Given the description of an element on the screen output the (x, y) to click on. 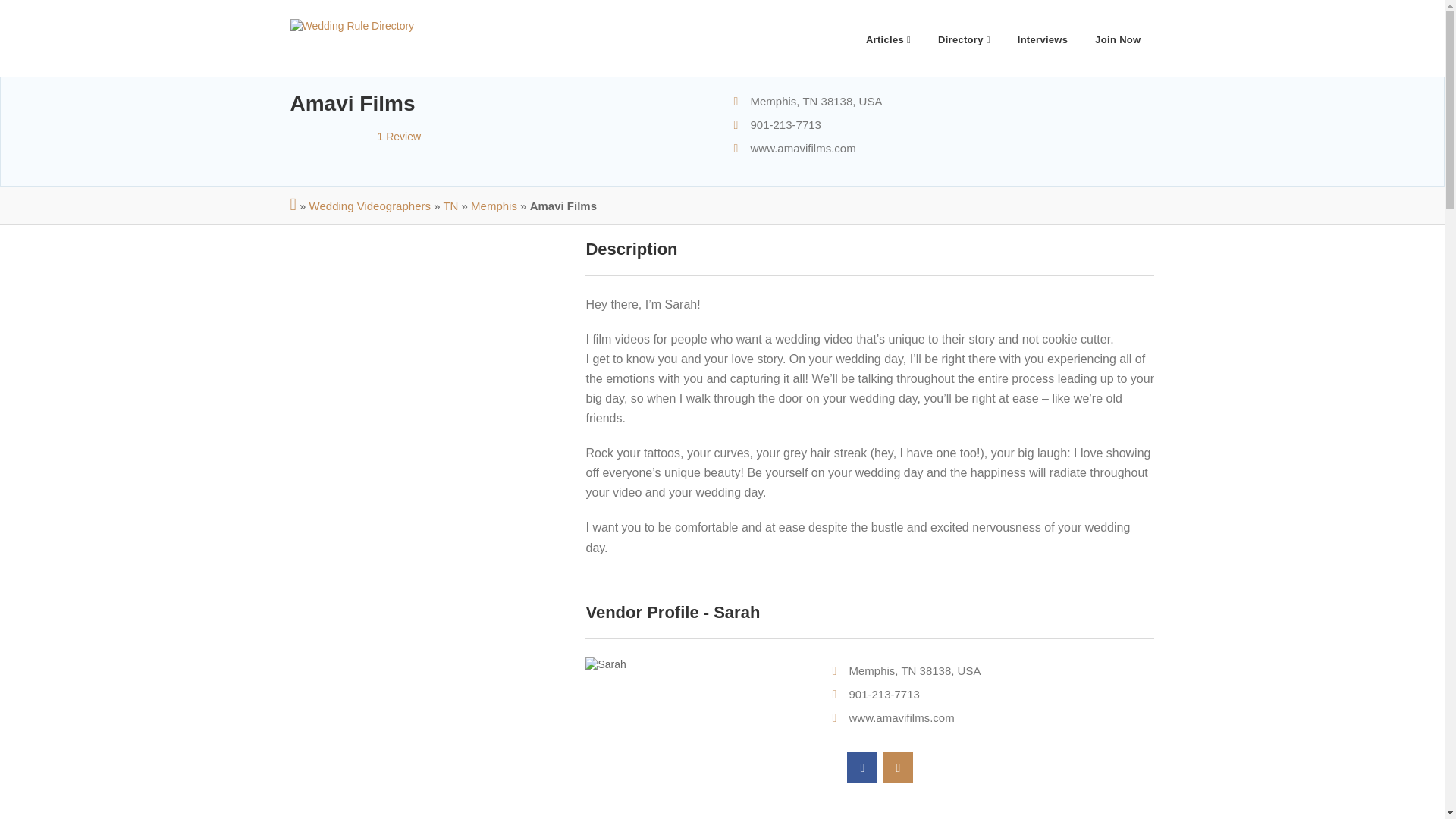
Interviews (1042, 38)
TN (450, 205)
www.amavifilms.com (900, 717)
Wedding Videographers (369, 205)
1 Review (354, 136)
Join Now (1117, 38)
Articles (887, 38)
5.0 (333, 134)
Sarah  (697, 664)
Memphis (493, 205)
